Given the description of an element on the screen output the (x, y) to click on. 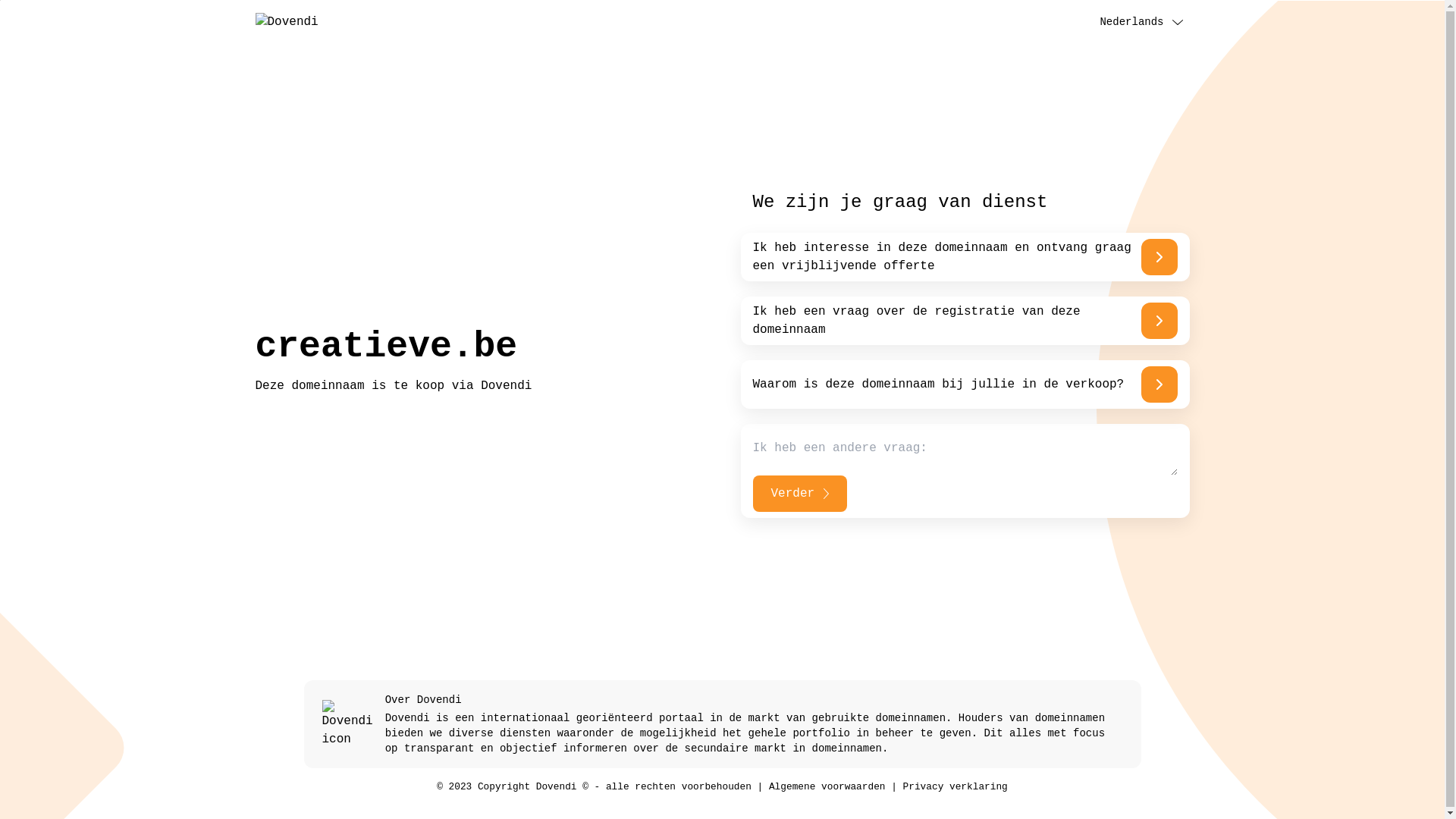
Verder Element type: text (799, 493)
Privacy verklaring Element type: text (955, 786)
Algemene voorwaarden Element type: text (826, 786)
